Given the description of an element on the screen output the (x, y) to click on. 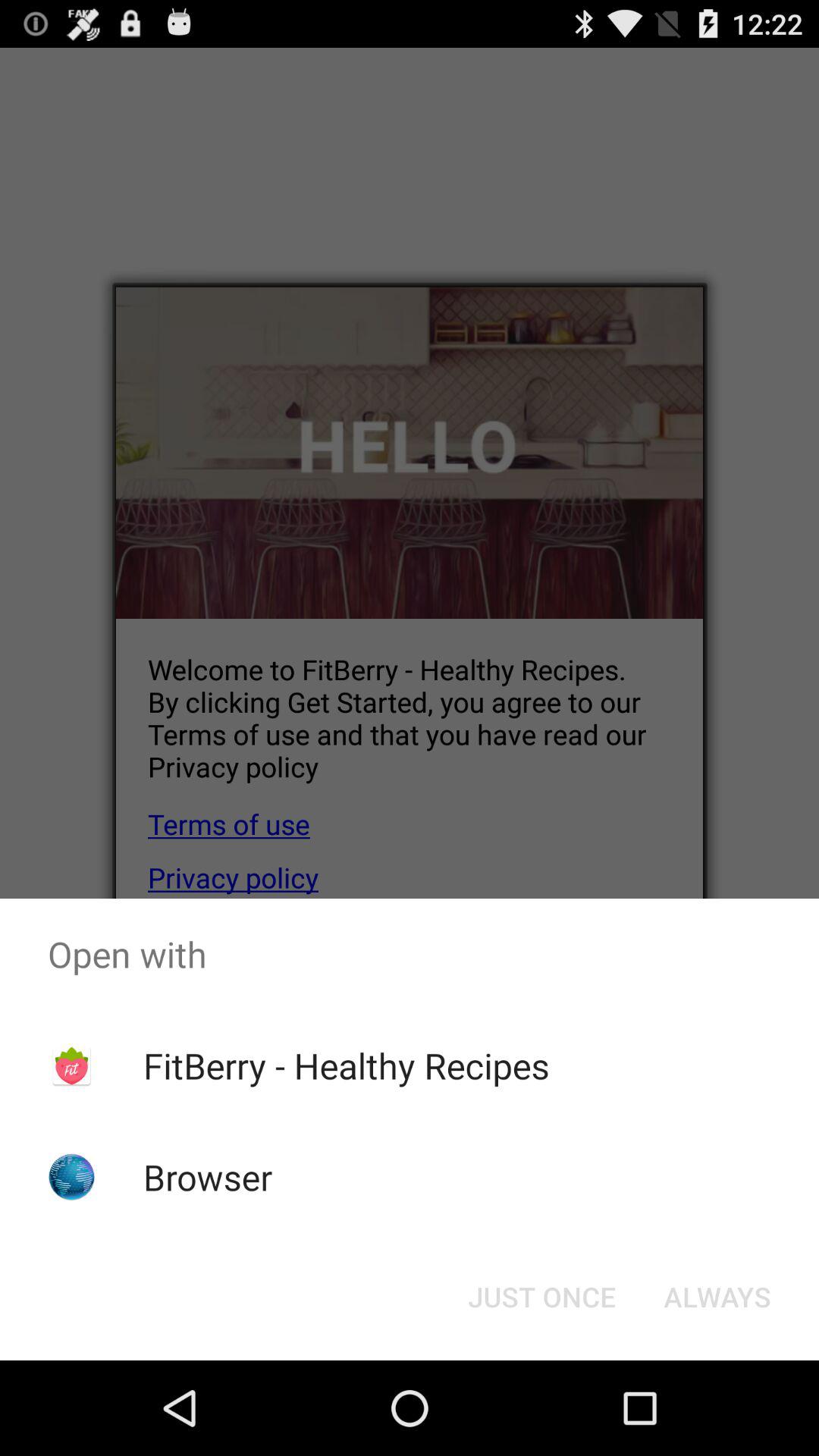
swipe until fitberry - healthy recipes icon (346, 1065)
